Given the description of an element on the screen output the (x, y) to click on. 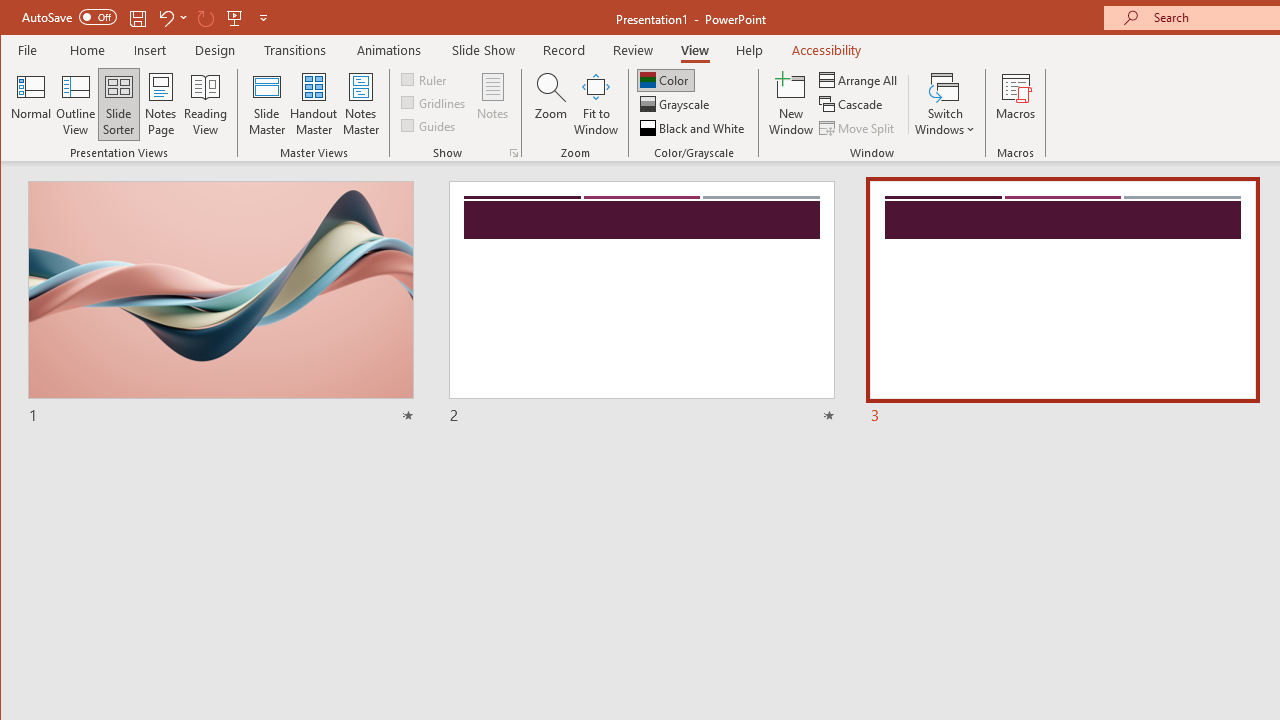
Move Split (858, 127)
Gridlines (435, 101)
Arrange All (859, 80)
Macros (1016, 104)
Grid Settings... (513, 152)
Zoom... (550, 104)
Slide Master (266, 104)
